Given the description of an element on the screen output the (x, y) to click on. 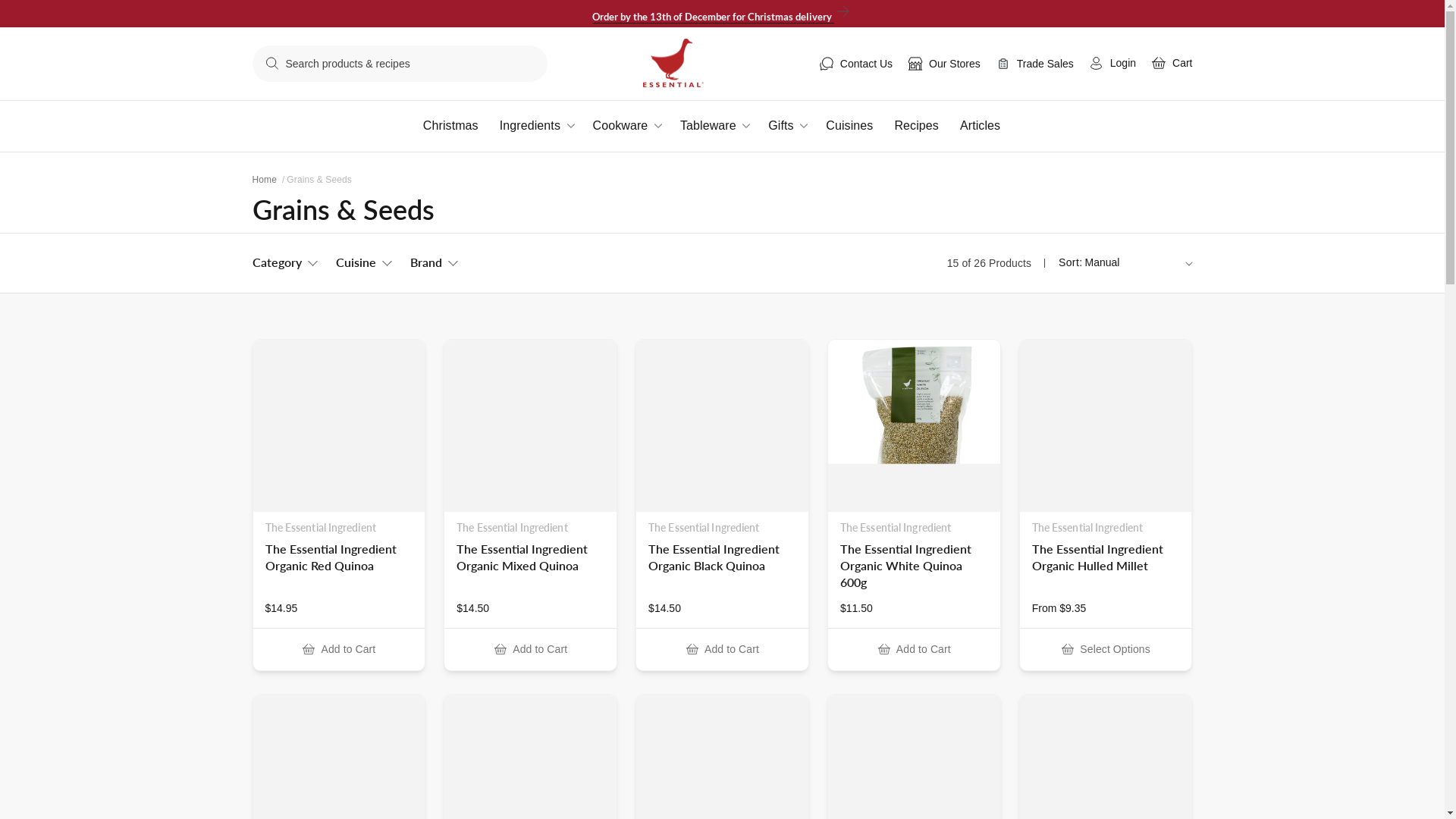
Cuisine Element type: text (362, 262)
Our Stores Element type: text (943, 63)
Add to Cart Element type: text (339, 649)
The Essential Ingredient Organic White Quinoa 600g Element type: text (914, 565)
Articles Element type: text (990, 125)
The Essential Ingredient Organic Mixed Quinoa Element type: text (530, 557)
Gifts Element type: text (796, 125)
Select Options Element type: text (1105, 648)
The Essential Ingredient Organic Hulled Millet Element type: text (1105, 557)
Cart Element type: text (1171, 61)
Brand Element type: text (432, 262)
The Essential Ingredient Organic Red Quinoa Element type: text (339, 557)
The Essential Ingredient Organic Black Quinoa Element type: text (722, 557)
Home Element type: text (263, 179)
Cookware Element type: text (636, 125)
Add to Cart Element type: text (530, 649)
Contact Us Element type: text (855, 63)
Trade Sales Element type: text (1034, 63)
Category Element type: text (283, 262)
Login Element type: text (1111, 61)
Christmas Element type: text (461, 125)
Add to Cart Element type: text (914, 649)
Tableware Element type: text (724, 125)
Ingredients Element type: text (546, 125)
Add to Cart Element type: text (722, 649)
Recipes Element type: text (927, 125)
Cuisines Element type: text (859, 125)
